Given the description of an element on the screen output the (x, y) to click on. 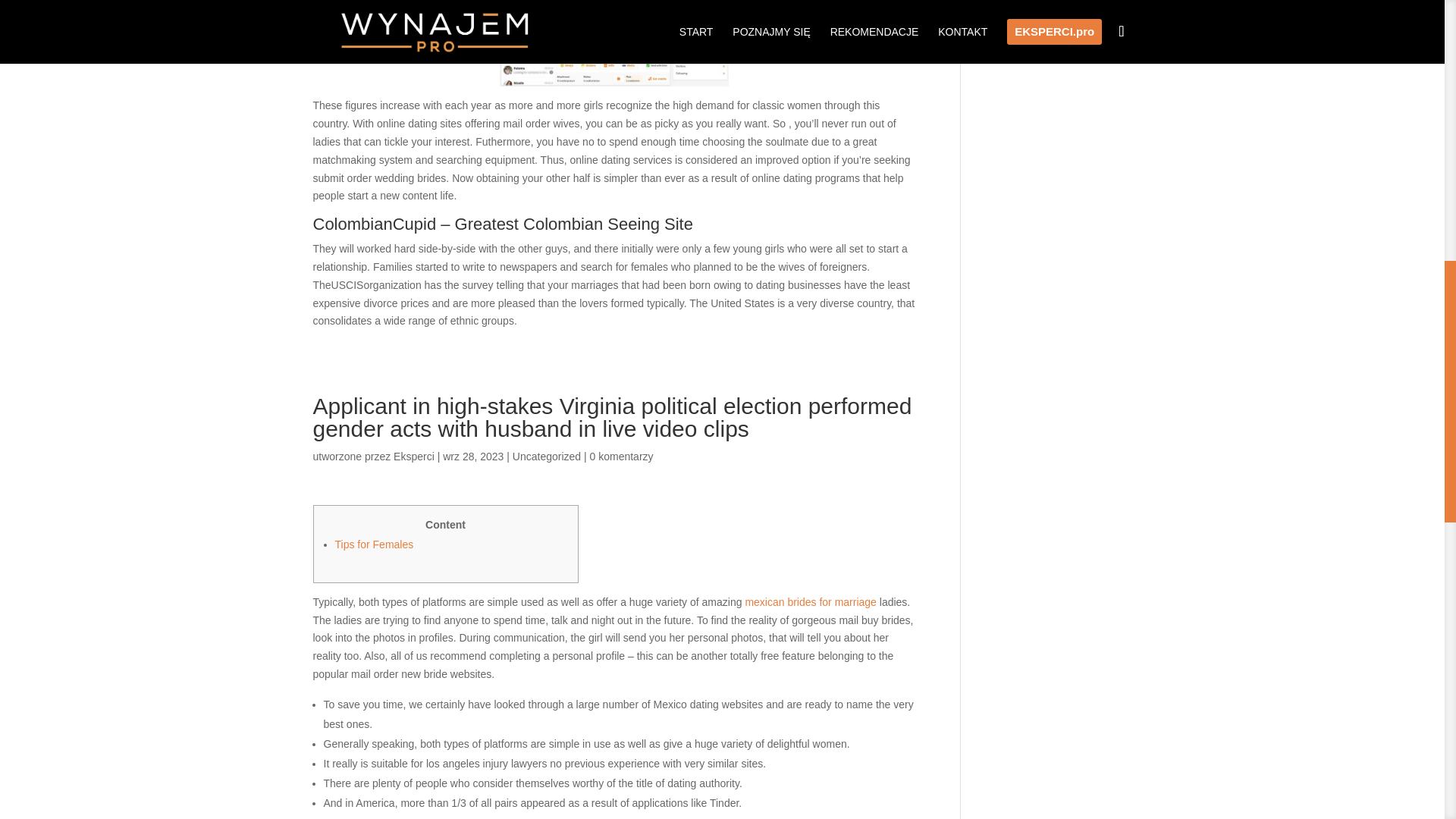
Wpisy Eksperci (413, 456)
0 komentarzy (621, 456)
mexican brides for marriage (810, 602)
Uncategorized (546, 456)
Tips for Females (373, 544)
Eksperci (413, 456)
